Given the description of an element on the screen output the (x, y) to click on. 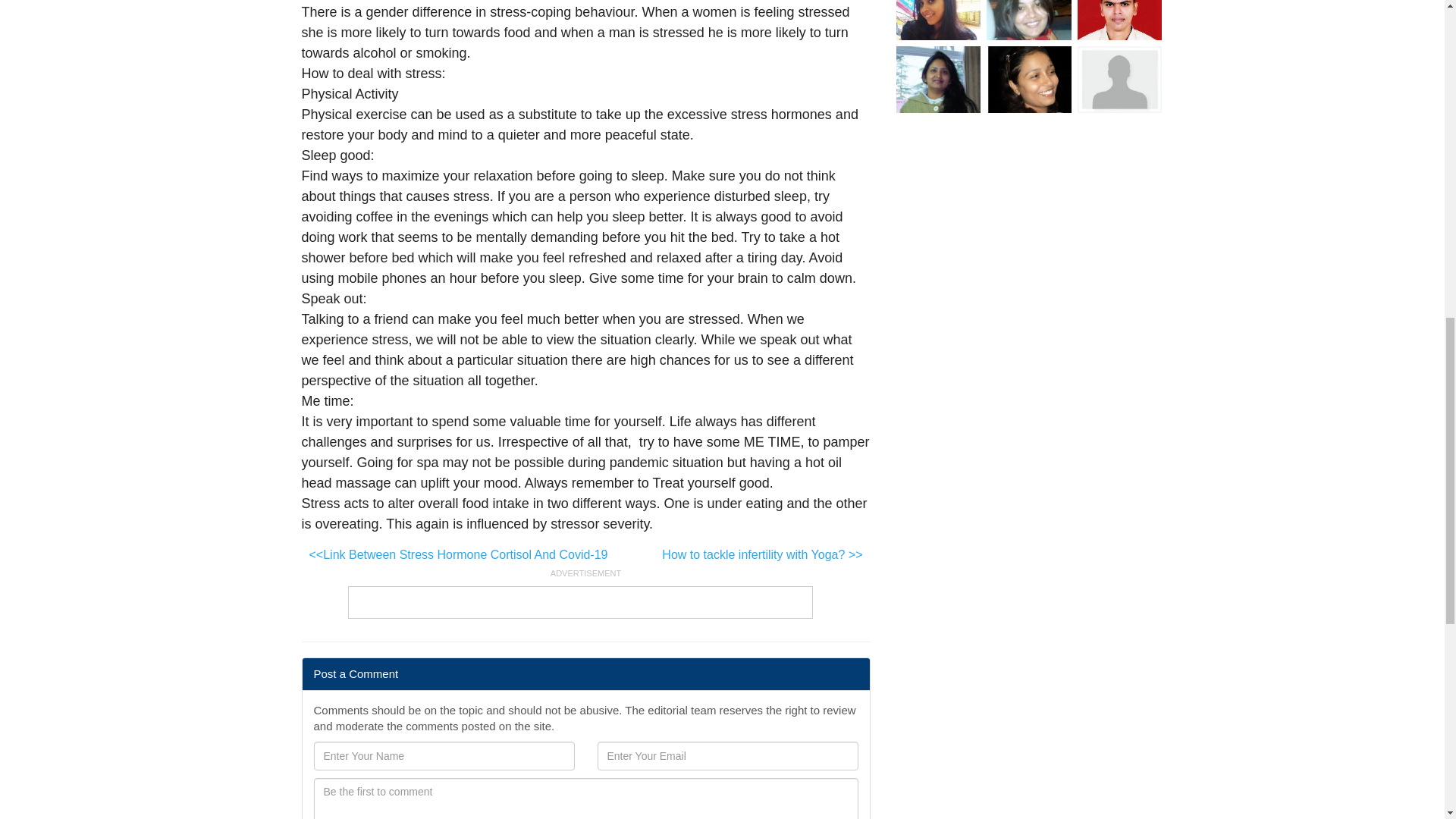
How to tackle infertility with Yoga? (761, 555)
Krishna Bora (938, 20)
Antony76 (1119, 20)
aruna75 (1119, 79)
Lakshmi Gopal (938, 79)
ThelmaSimon (1029, 79)
Dr.Trupti (1029, 20)
Link Between Stress Hormone Cortisol And Covid-19 (458, 555)
